Given the description of an element on the screen output the (x, y) to click on. 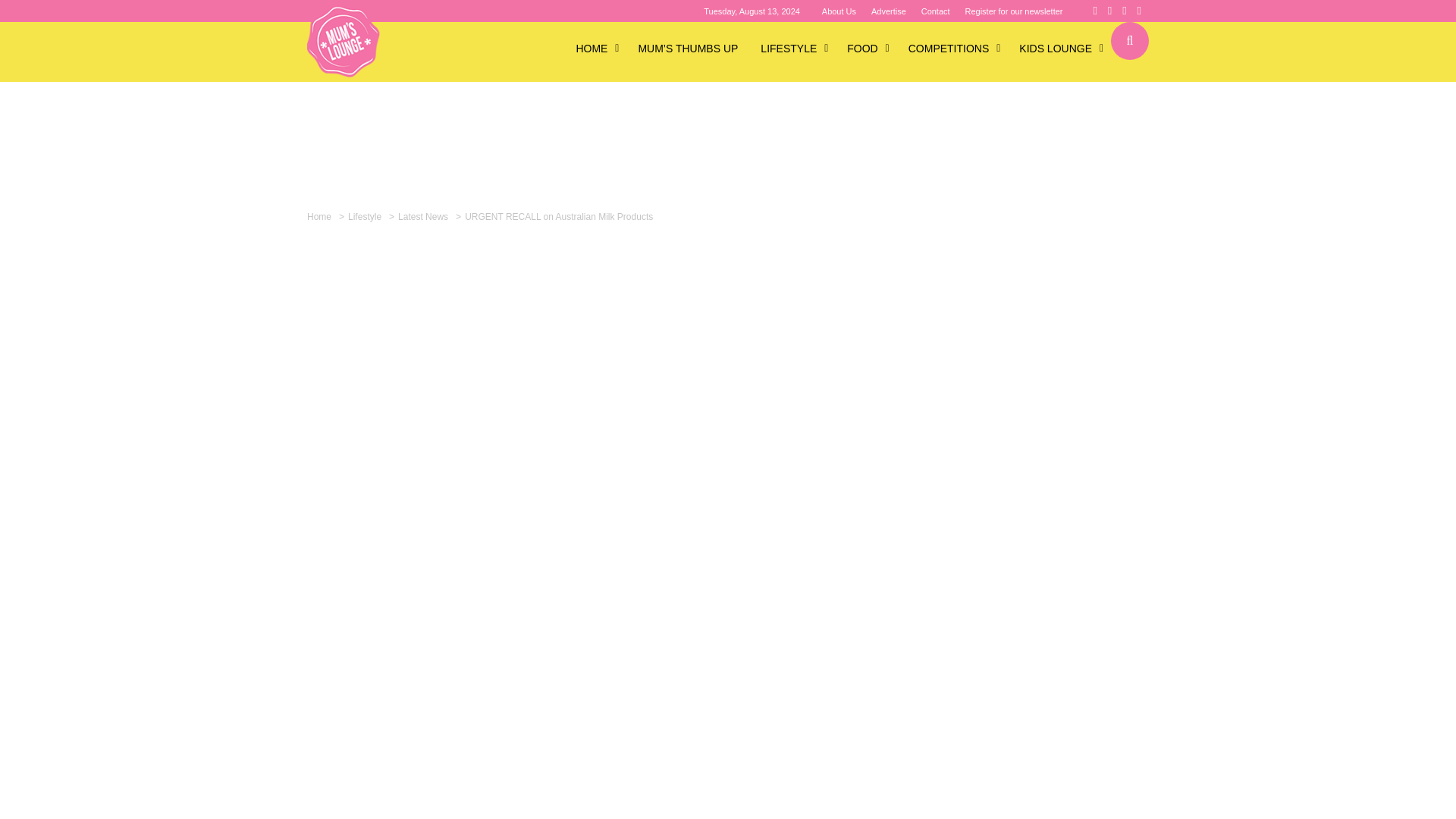
Contact (935, 11)
About Us (839, 11)
Go to the Latest News category archives. (424, 216)
Go to Mumslounge. (320, 216)
Register for our newsletter (1012, 11)
Advertise (887, 11)
Go to the Lifestyle category archives. (366, 216)
